Given the description of an element on the screen output the (x, y) to click on. 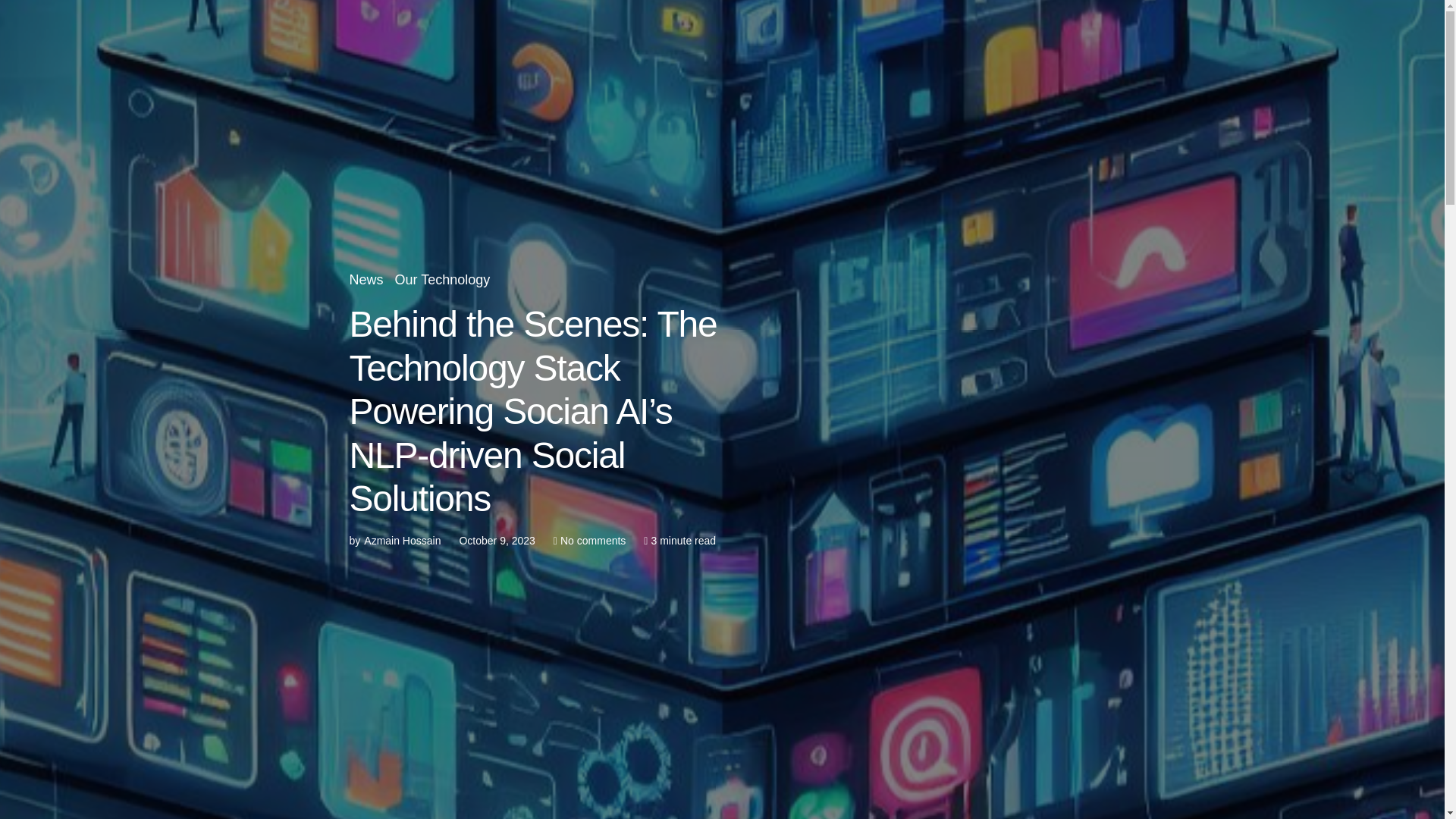
Our Technology (442, 280)
No comments (593, 540)
News (365, 280)
View all posts by Azmain Hossain (395, 540)
